Given the description of an element on the screen output the (x, y) to click on. 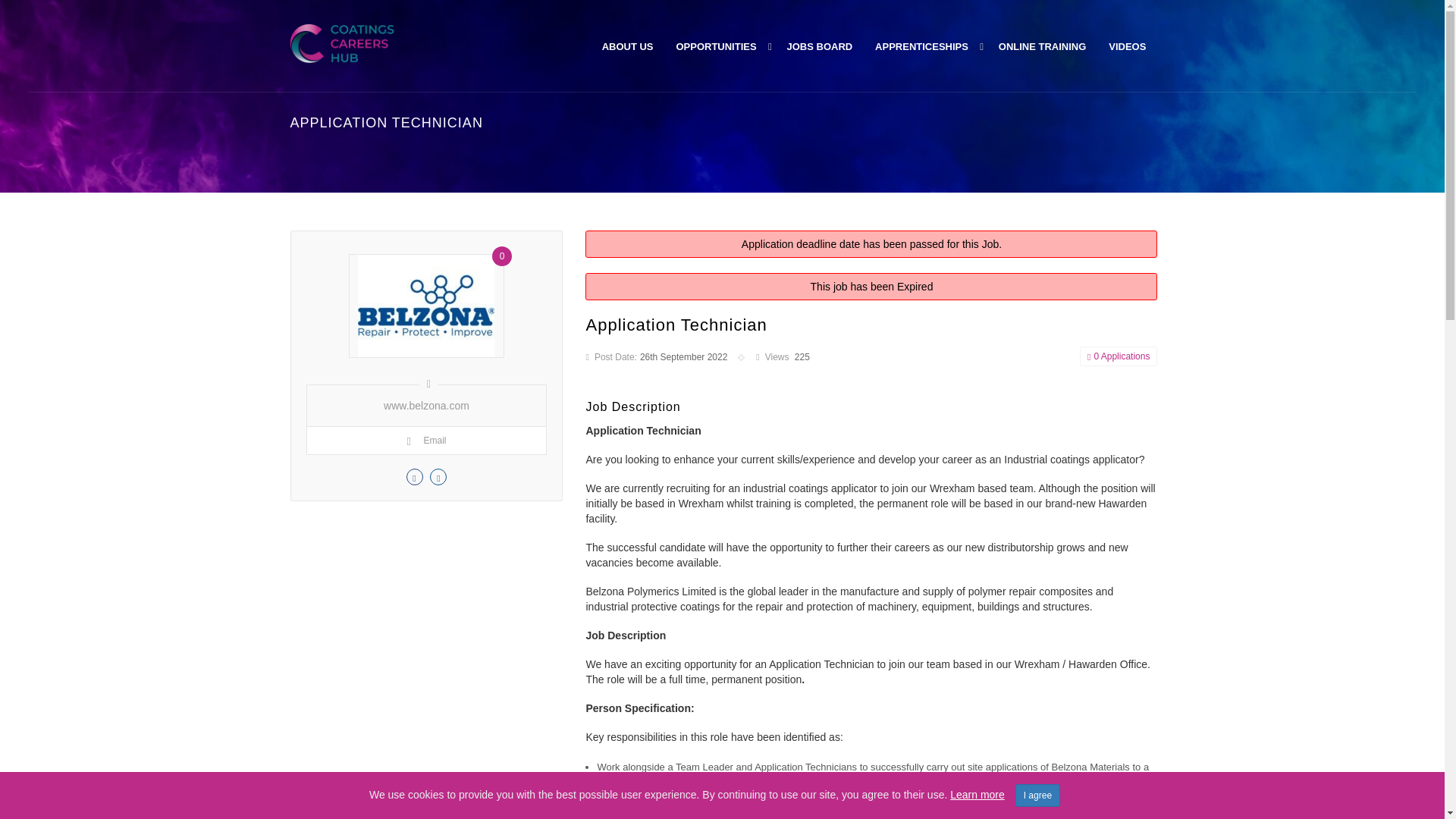
www.belzona.com (426, 404)
OPPORTUNITIES (715, 46)
0 Applications (1118, 356)
APPRENTICESHIPS (921, 46)
VIDEOS (1127, 46)
Email (425, 439)
ONLINE TRAINING (1042, 46)
JOBS BOARD (820, 46)
ABOUT US (633, 46)
